Given the description of an element on the screen output the (x, y) to click on. 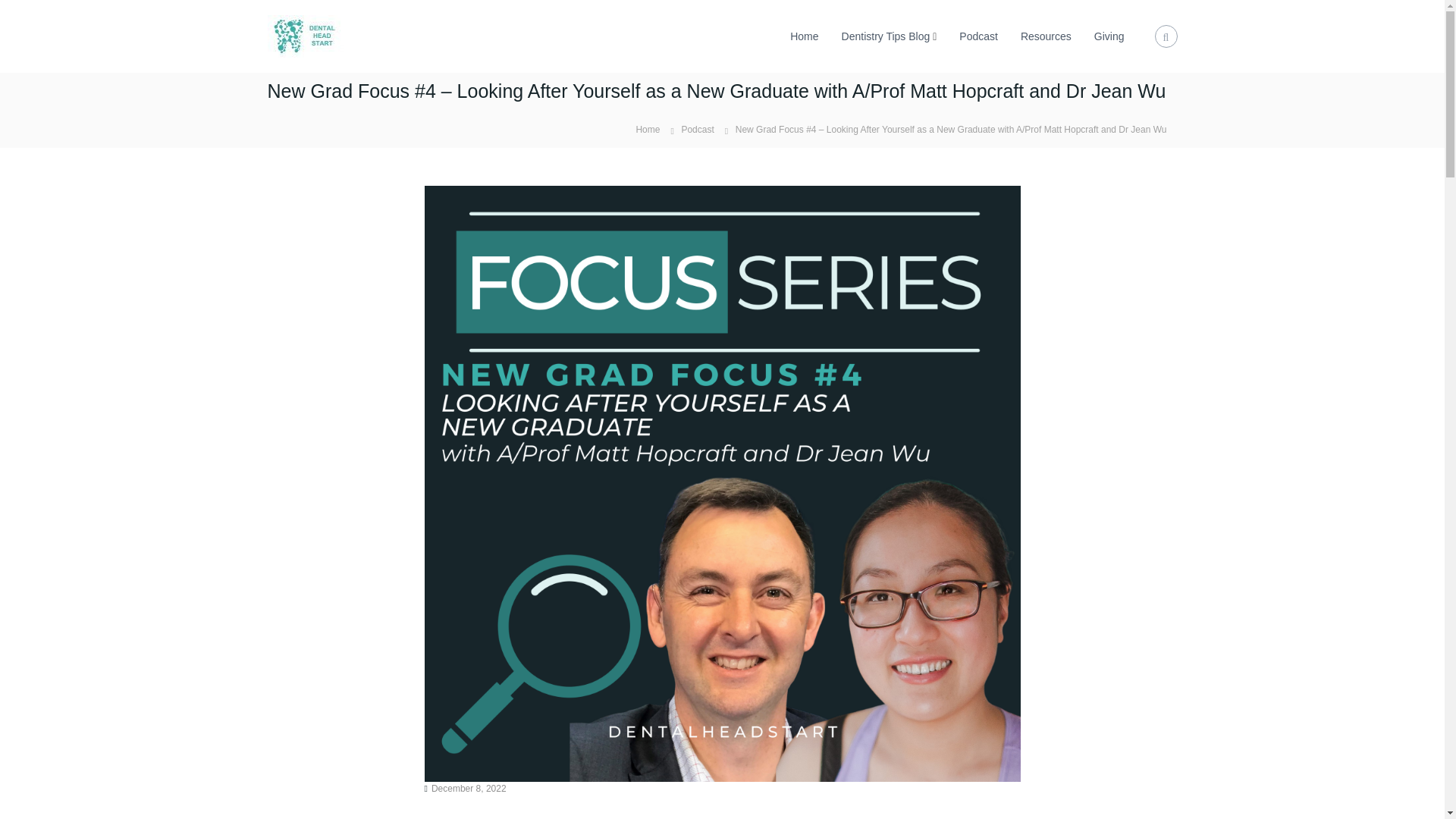
Podcast (978, 36)
Giving (1109, 36)
Dentistry Tips Blog (885, 36)
Podcast (697, 129)
December 8, 2022 (468, 787)
Resources (1045, 36)
Home (646, 128)
Home (646, 128)
Home (804, 36)
